Given the description of an element on the screen output the (x, y) to click on. 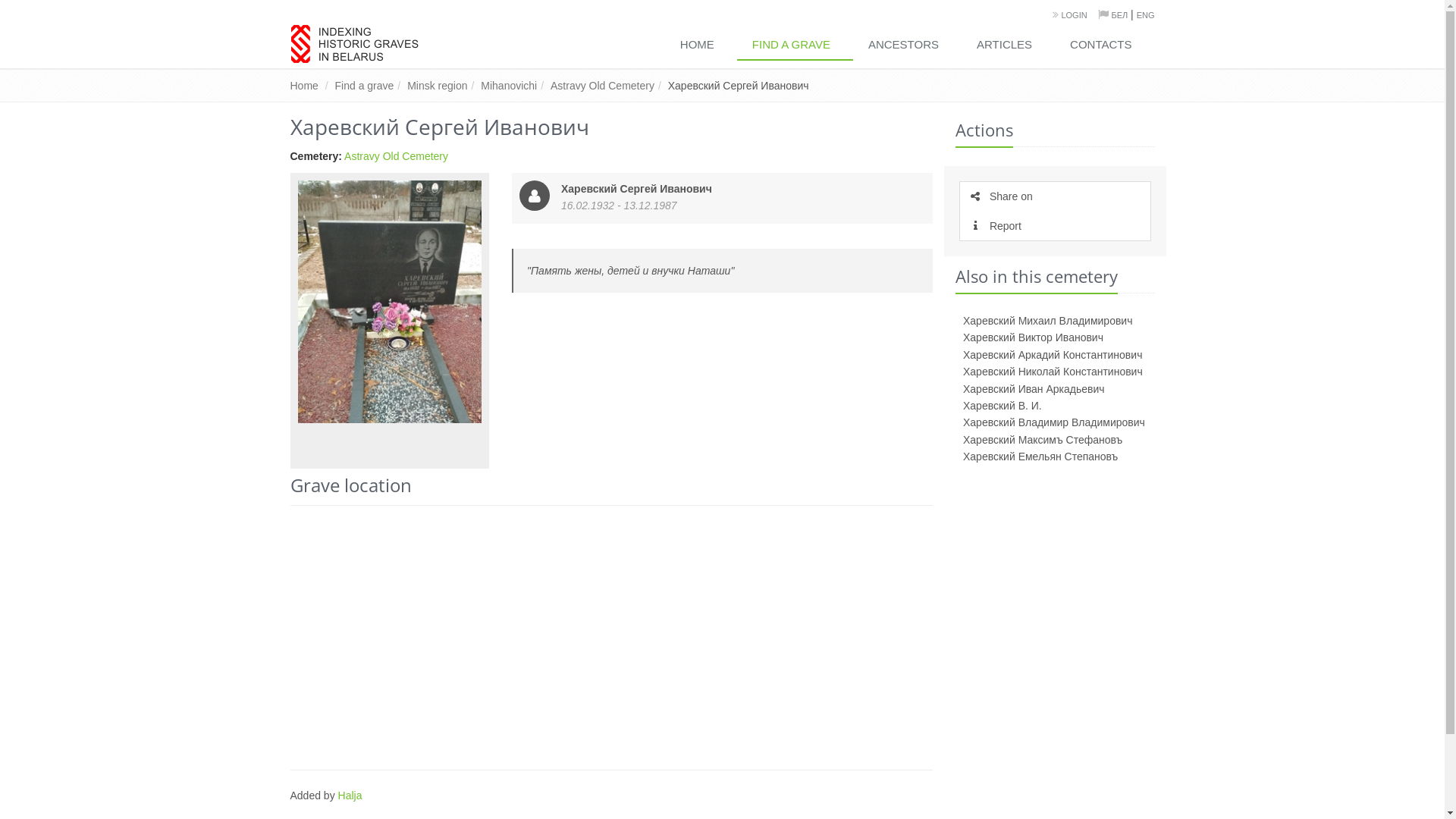
LOGIN Element type: text (1073, 14)
Astravy Old Cemetery Element type: text (602, 85)
Report Element type: text (1055, 225)
Halja Element type: text (350, 795)
HOME Element type: text (701, 45)
Indexing historic graves in Belarus Element type: hover (353, 43)
Minsk region Element type: text (437, 85)
ARTICLES Element type: text (1007, 45)
Mihanovichi Element type: text (508, 85)
CONTACTS Element type: text (1104, 45)
FIND A GRAVE Element type: text (795, 45)
ENG Element type: text (1145, 14)
Find a grave Element type: text (364, 85)
Astravy Old Cemetery Element type: text (396, 156)
Home Element type: text (303, 85)
ANCESTORS Element type: text (907, 45)
